Given the description of an element on the screen output the (x, y) to click on. 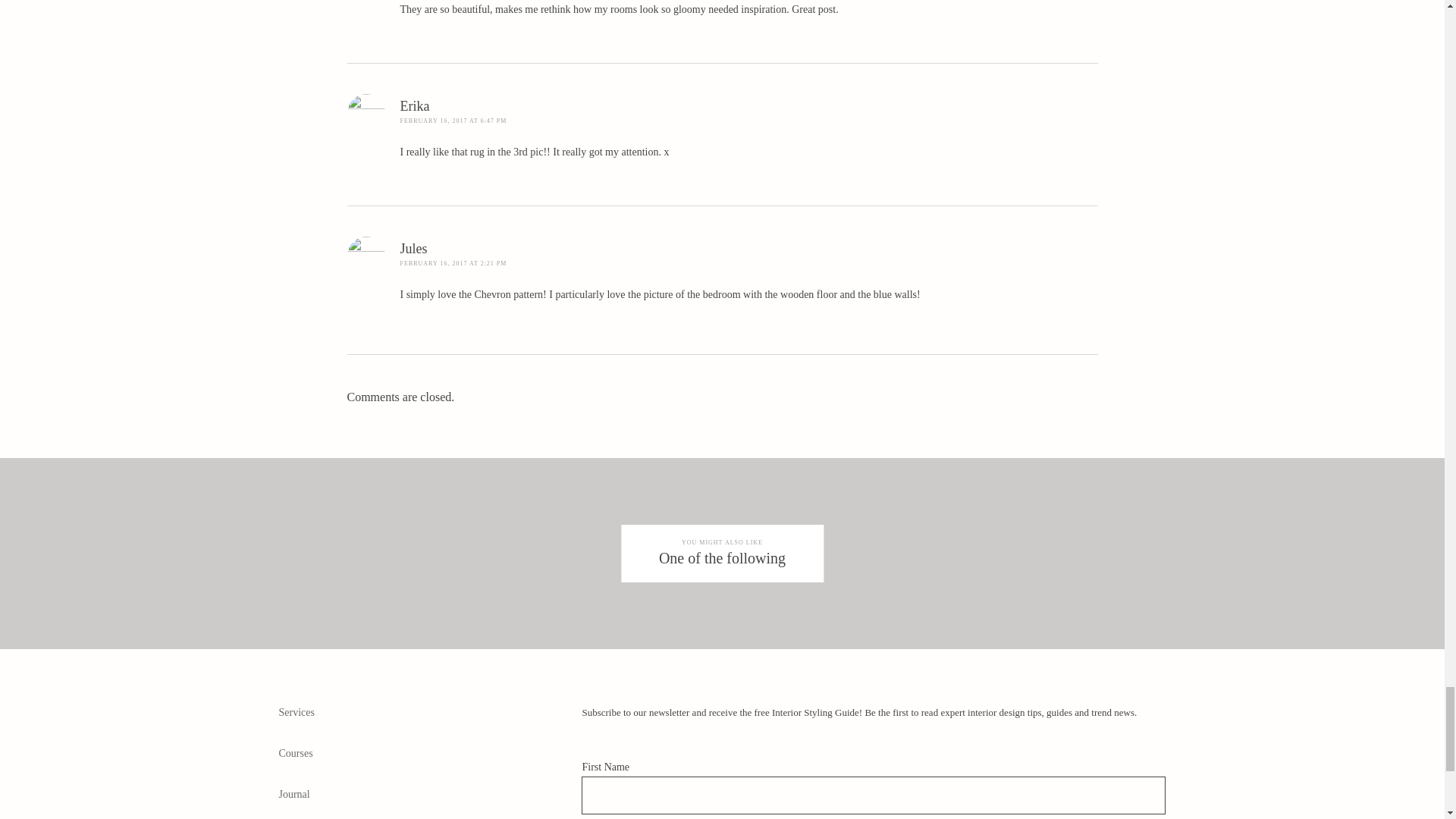
Journal  (296, 794)
Courses (296, 753)
FEBRUARY 16, 2017 AT 2:21 PM (453, 263)
Services (296, 712)
FEBRUARY 16, 2017 AT 6:47 PM (453, 121)
